Given the description of an element on the screen output the (x, y) to click on. 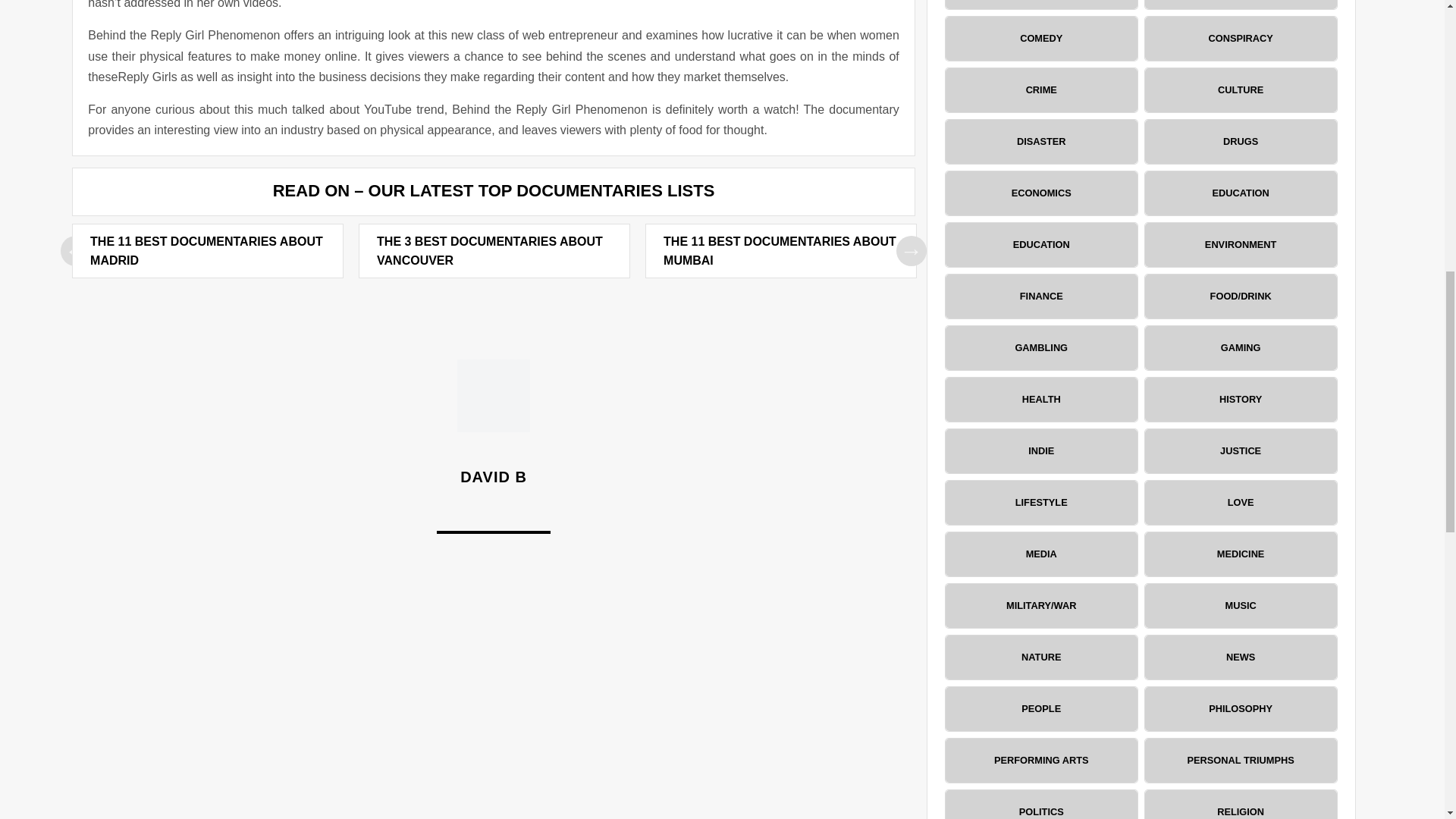
Prev (911, 250)
THE 3 BEST DOCUMENTARIES ABOUT VANCOUVER (489, 250)
Prev (75, 250)
THE 11 BEST DOCUMENTARIES ABOUT MUMBAI (779, 250)
THE 11 BEST DOCUMENTARIES ABOUT MADRID (206, 250)
